Given the description of an element on the screen output the (x, y) to click on. 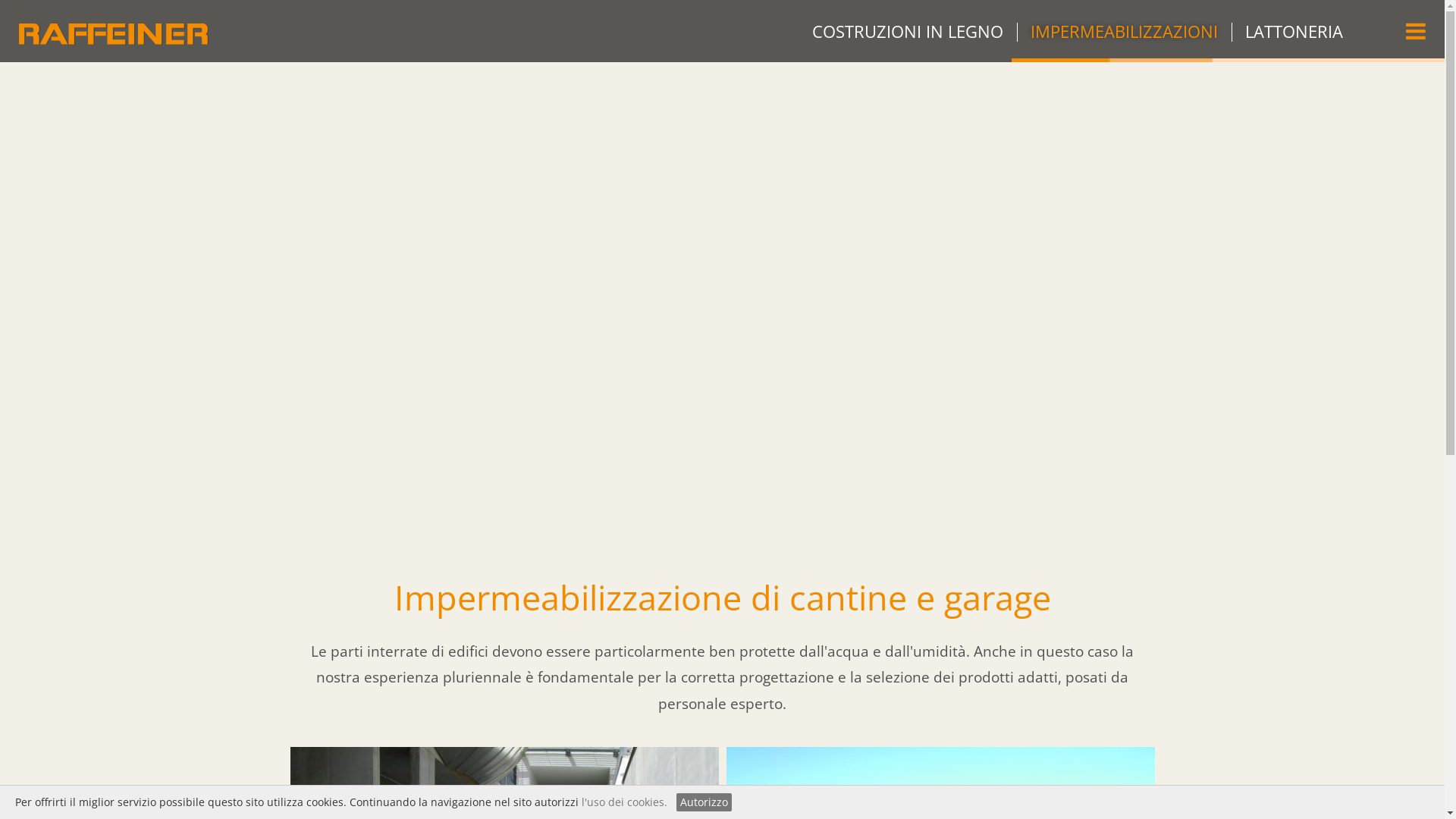
LATTONERIA Element type: text (1293, 31)
l'uso dei cookies. Element type: text (624, 801)
Autorizzo Element type: text (703, 802)
COSTRUZIONI IN LEGNO Element type: text (907, 31)
IMPERMEABILIZZAZIONI Element type: text (1123, 31)
